Given the description of an element on the screen output the (x, y) to click on. 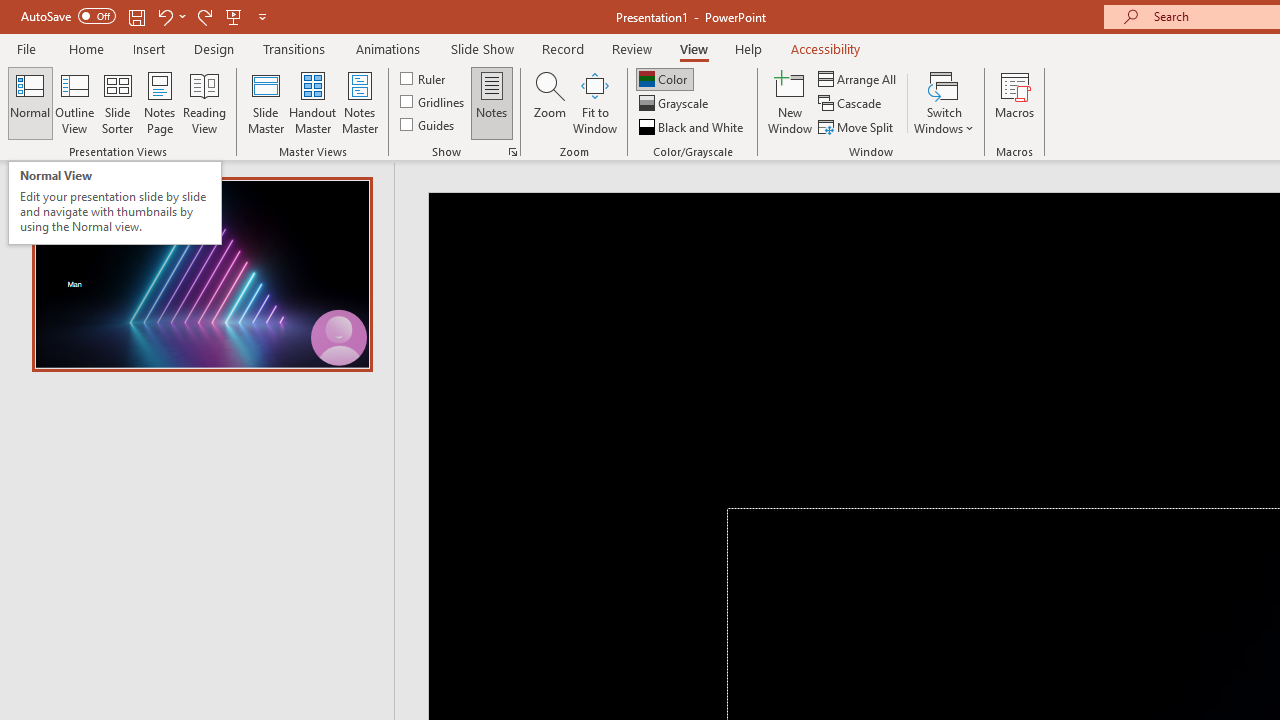
Arrange All (858, 78)
Notes Master (360, 102)
